Given the description of an element on the screen output the (x, y) to click on. 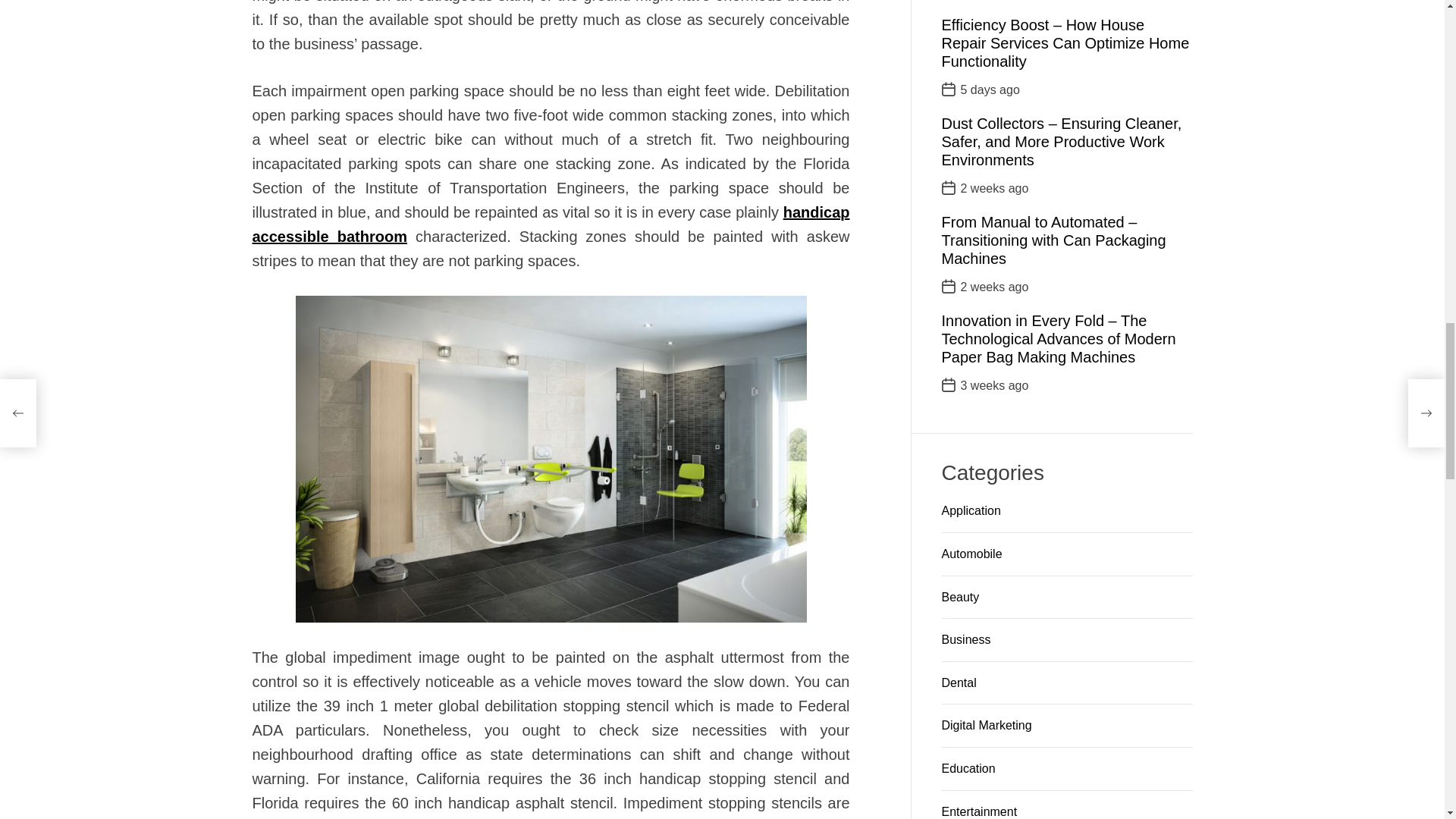
Hot Water Heater Installation DIY vs. Professional Services (699, 289)
Elsa Williams (324, 791)
Elsa Williams (601, 444)
Elsa Williams (325, 421)
